Given the description of an element on the screen output the (x, y) to click on. 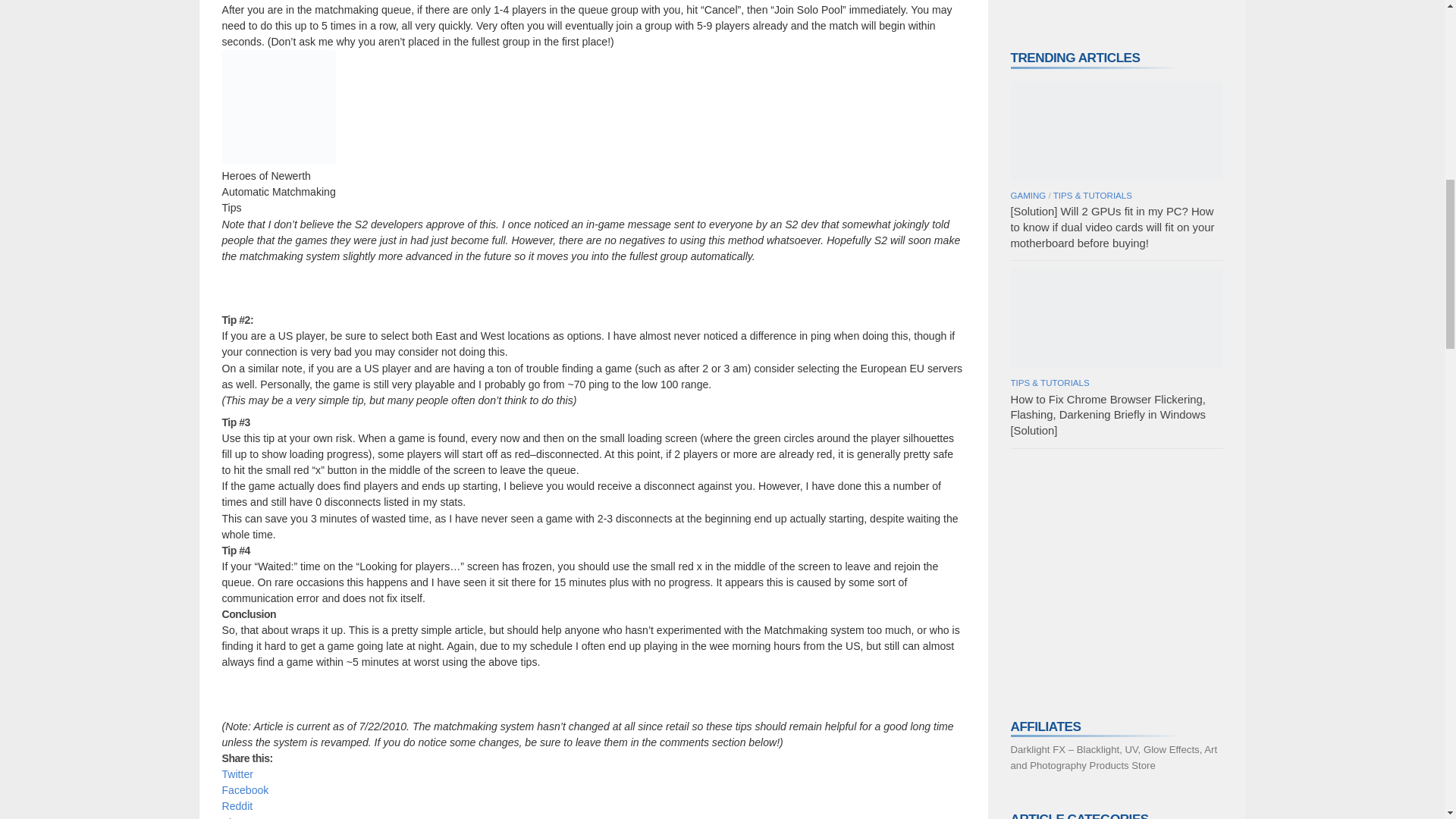
Twitter (236, 774)
Click to share on Twitter (236, 774)
Click to share on Facebook (244, 789)
Click to share on Reddit (236, 806)
Reddit (236, 806)
Click to share on Pinterest (242, 817)
heroesofnewerth (277, 106)
Pinterest (242, 817)
Facebook (244, 789)
